Given the description of an element on the screen output the (x, y) to click on. 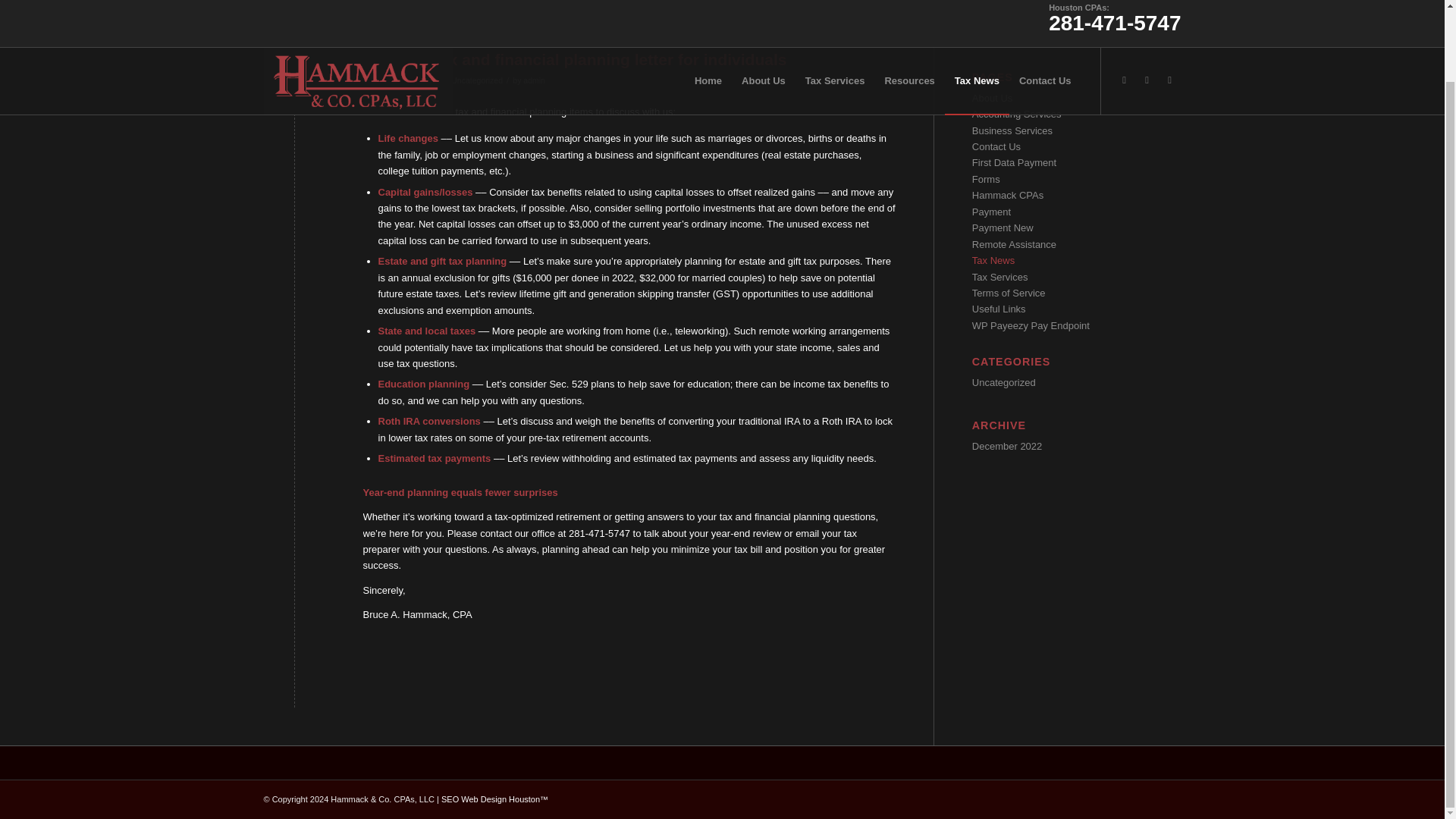
Contact Us (1045, 17)
Terms of Service (1008, 292)
Twitter (1146, 6)
First Data Payment (1014, 162)
Facebook (1169, 6)
Tax News (993, 260)
HammackCAPs-logo-black-2 (357, 17)
Hammack CPA Services (708, 17)
About Us (991, 98)
Forms (986, 179)
Resources (909, 17)
Tax Services (999, 276)
Useful Links (999, 308)
About Us (763, 17)
Posts by admin (533, 80)
